Given the description of an element on the screen output the (x, y) to click on. 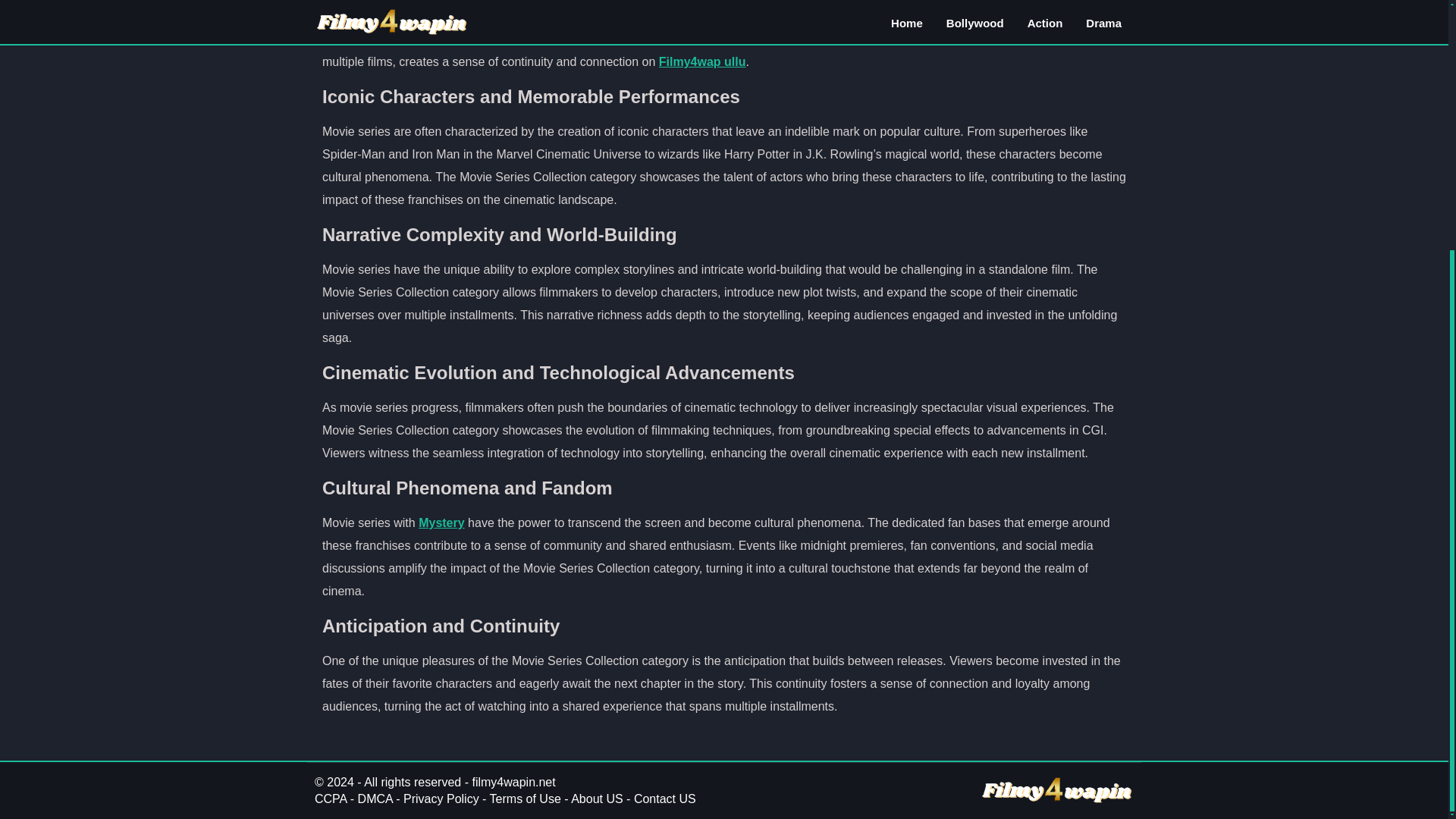
Filmy4wap ullu (702, 61)
Contact US (664, 798)
Privacy Policy (441, 798)
CCPA (330, 798)
Terms of Use (524, 798)
filmy4wapin.net (512, 781)
DMCA (375, 798)
Mystery (441, 522)
About US (596, 798)
